Given the description of an element on the screen output the (x, y) to click on. 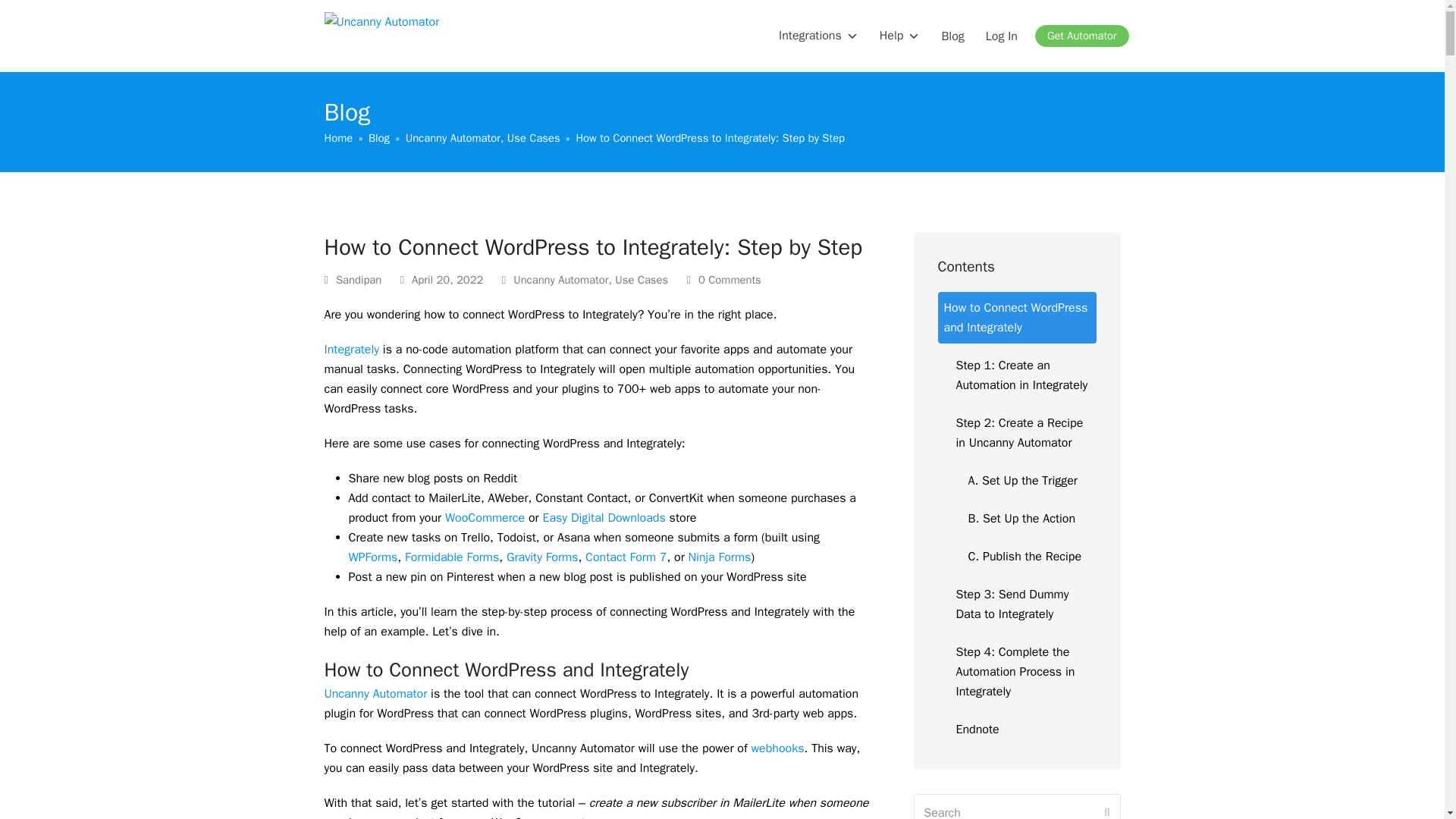
Help (900, 35)
Integrations (818, 35)
0 Comments (724, 280)
Posts by Sandipan (358, 279)
